Given the description of an element on the screen output the (x, y) to click on. 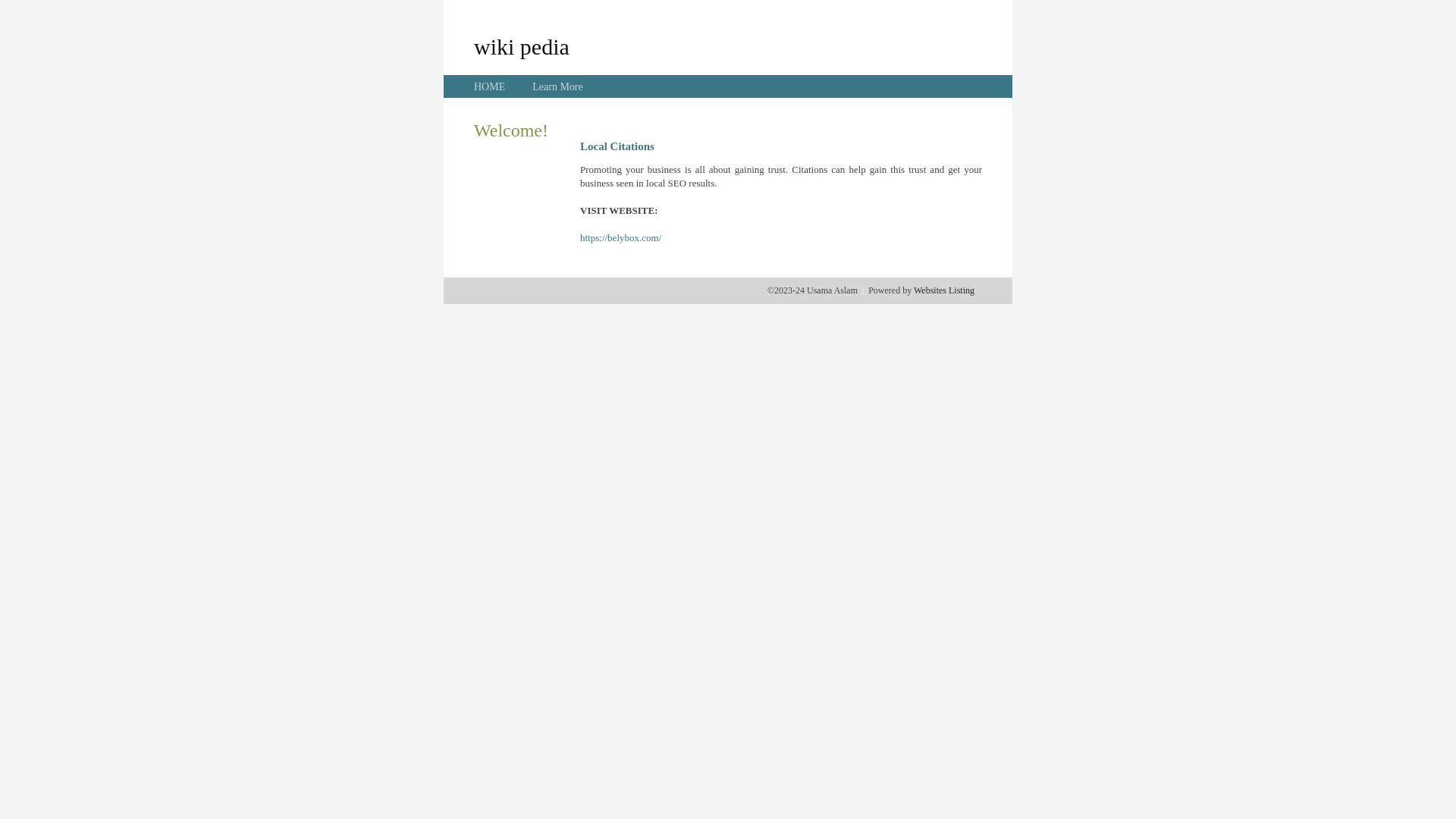
Learn More Element type: text (557, 86)
HOME Element type: text (489, 86)
Websites Listing Element type: text (943, 290)
https://belybox.com/ Element type: text (620, 237)
wiki pedia Element type: text (521, 46)
